Given the description of an element on the screen output the (x, y) to click on. 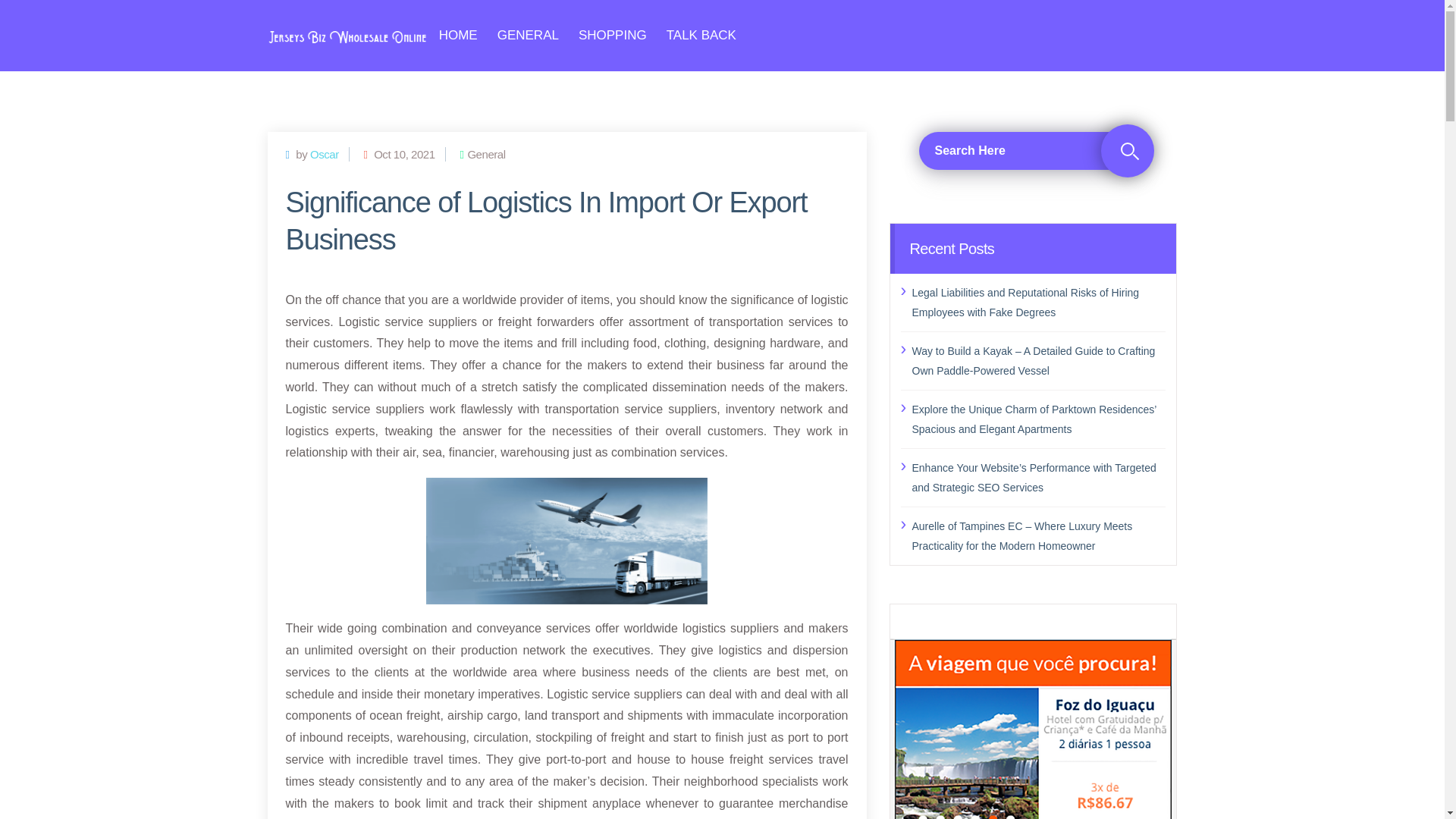
SHOPPING (612, 35)
TALK BACK (701, 35)
Oscar (324, 153)
GENERAL (528, 35)
